Given the description of an element on the screen output the (x, y) to click on. 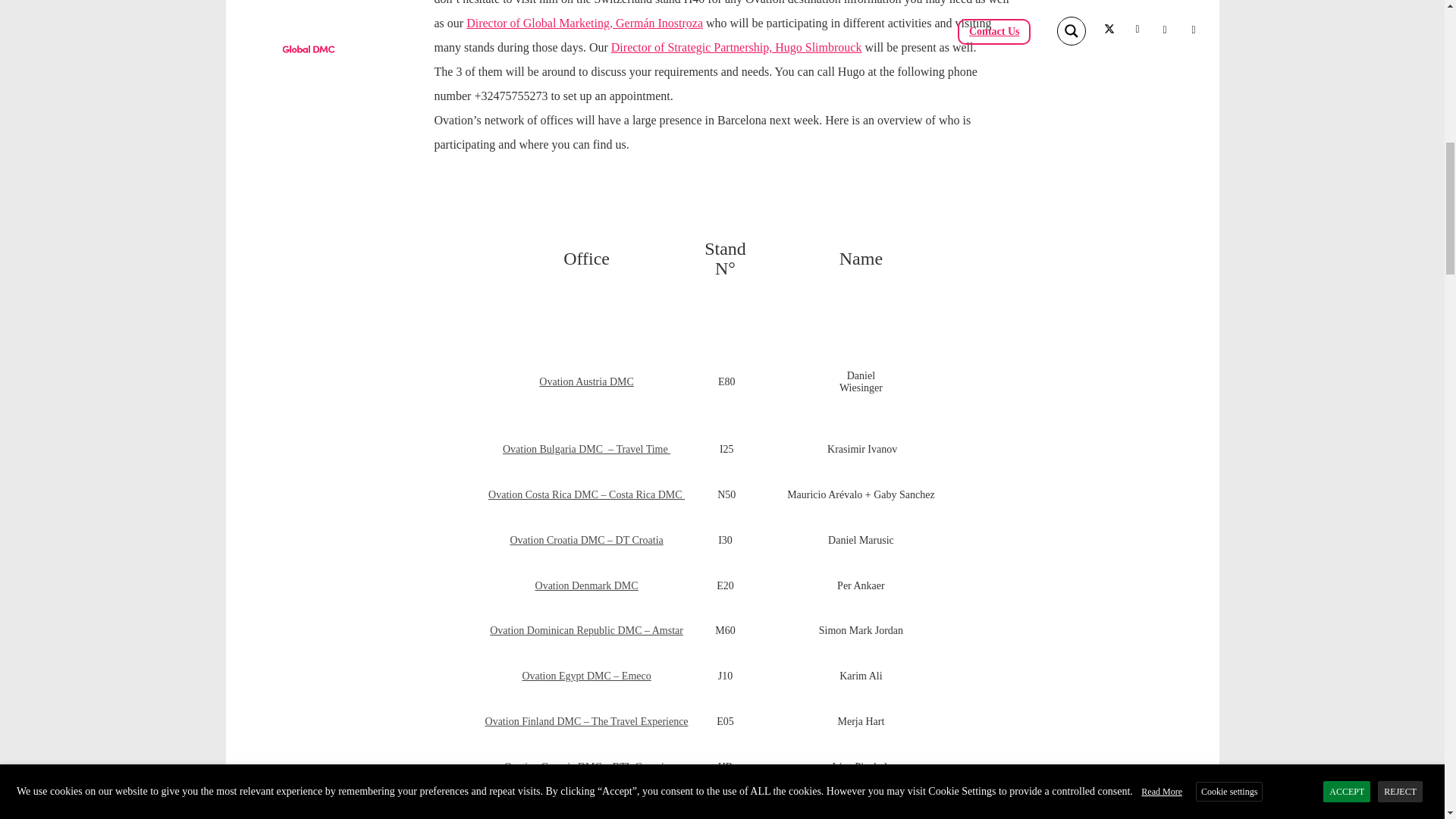
Ovation Austria DMC (585, 381)
Ovation Germany DMC (587, 811)
Director of Strategic Partnership, Hugo Slimbrouck (736, 47)
Ovation Denmark DMC (587, 585)
